Given the description of an element on the screen output the (x, y) to click on. 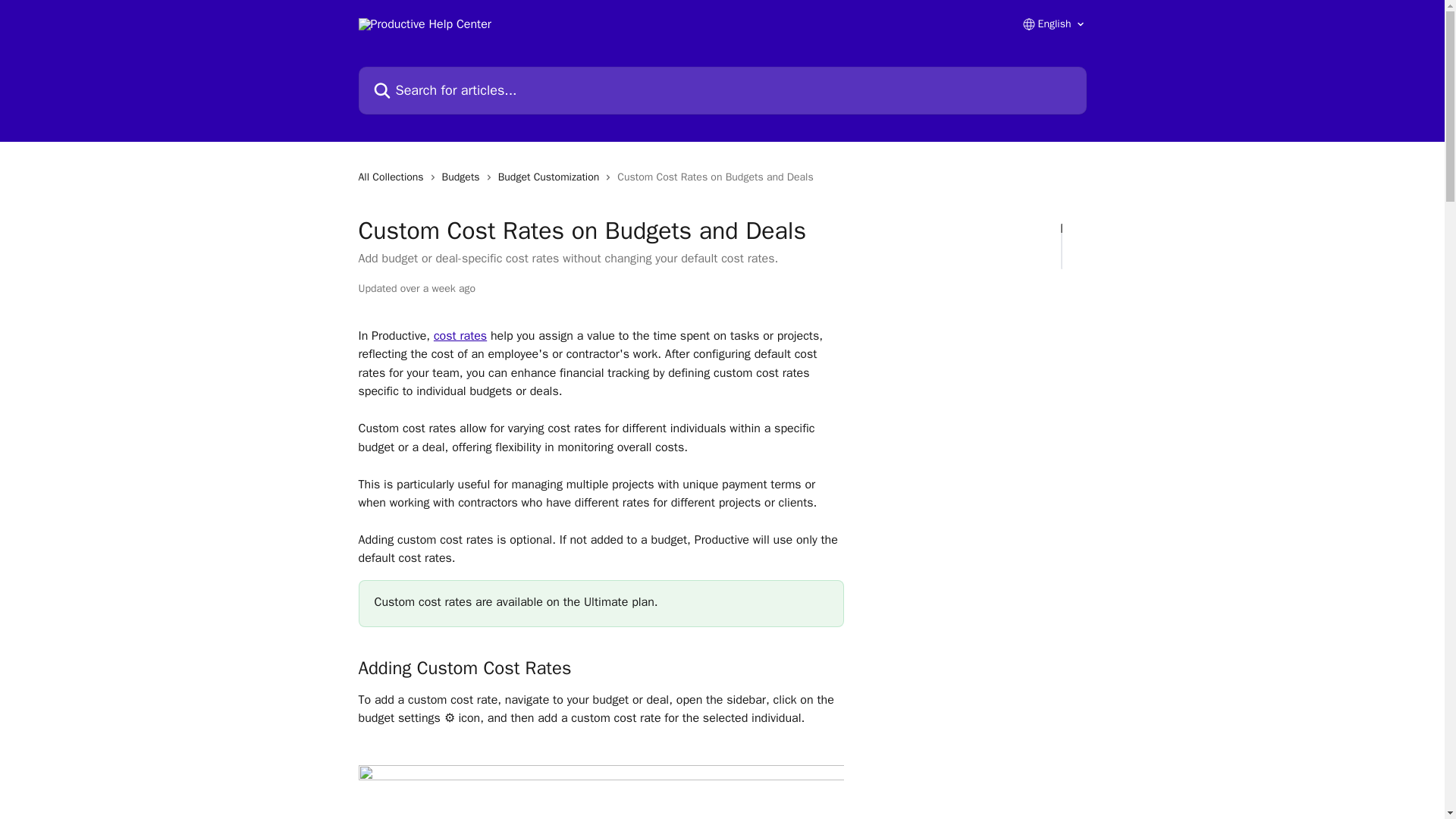
All Collections (393, 176)
Budgets (464, 176)
Budget Customization (551, 176)
cost rates (459, 335)
